Given the description of an element on the screen output the (x, y) to click on. 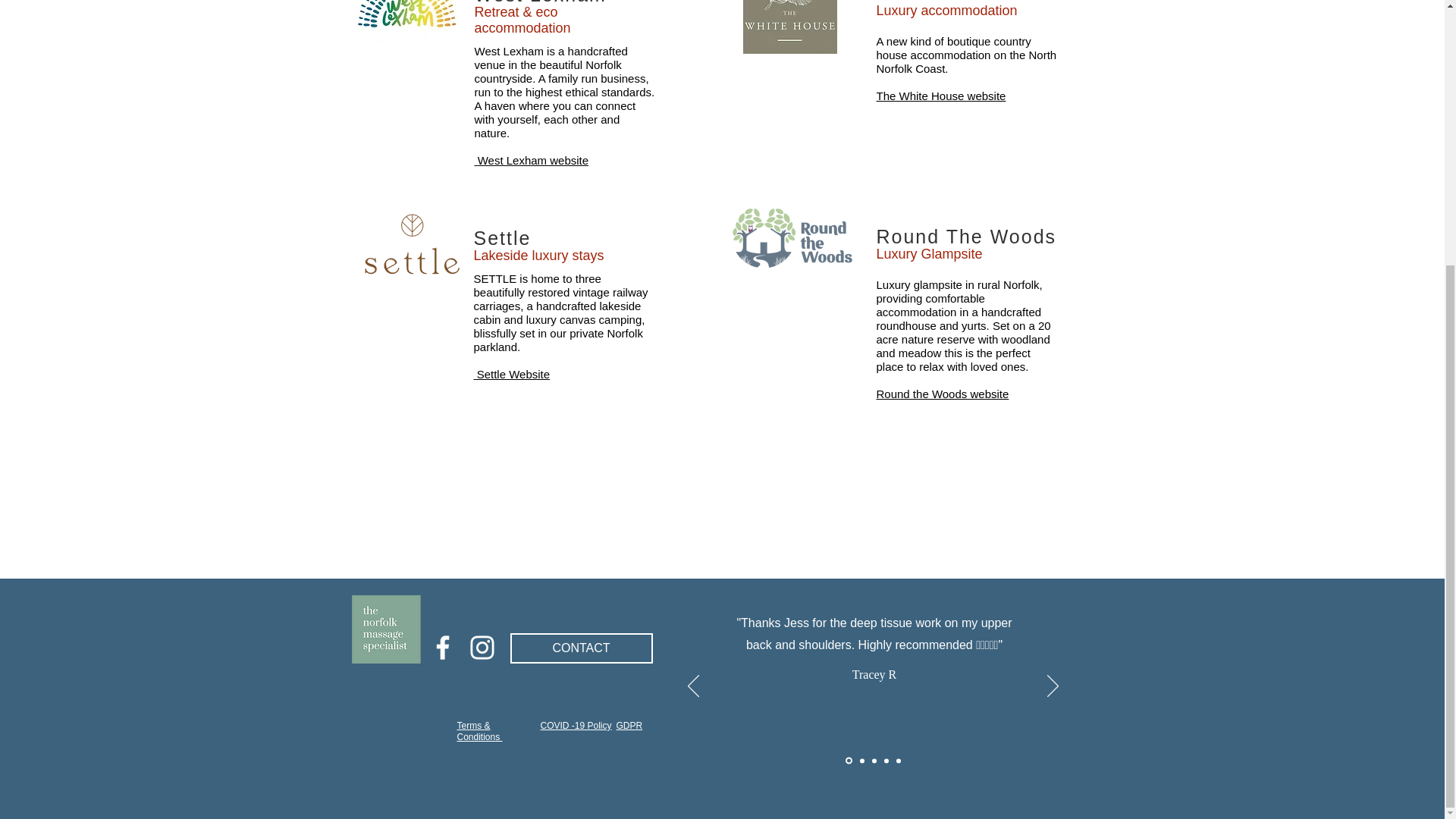
GDPR (628, 725)
CONTACT (580, 648)
Round the Woods website (942, 394)
COVID -19 Policy (575, 725)
 Settle Website (511, 374)
